Given the description of an element on the screen output the (x, y) to click on. 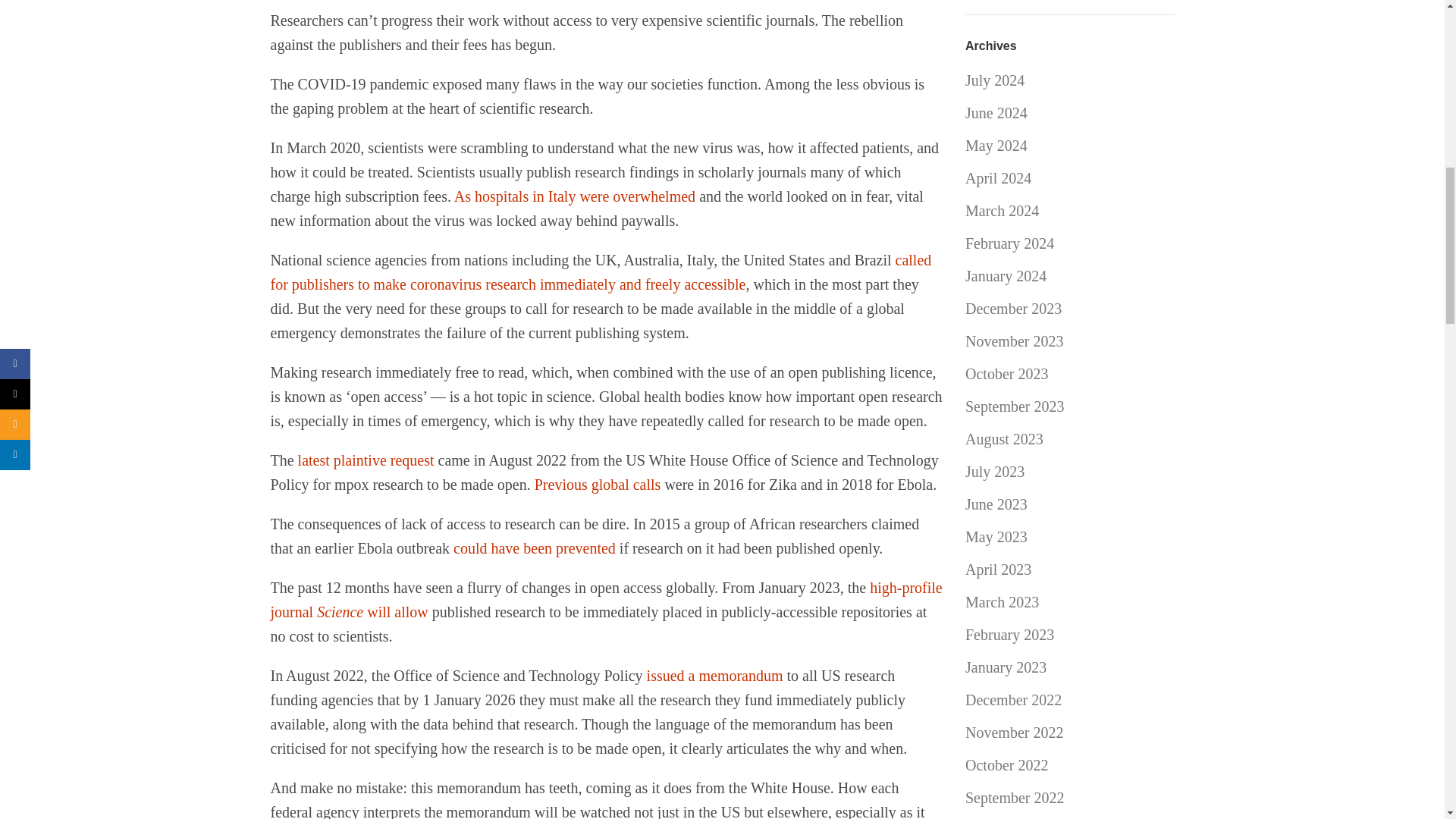
issued a memorandum (714, 675)
latest plaintive request (365, 460)
could have been prevented (533, 547)
As hospitals in Italy were overwhelmed (574, 196)
high-profile journal Science will allow (605, 599)
Previous global calls (597, 484)
